Given the description of an element on the screen output the (x, y) to click on. 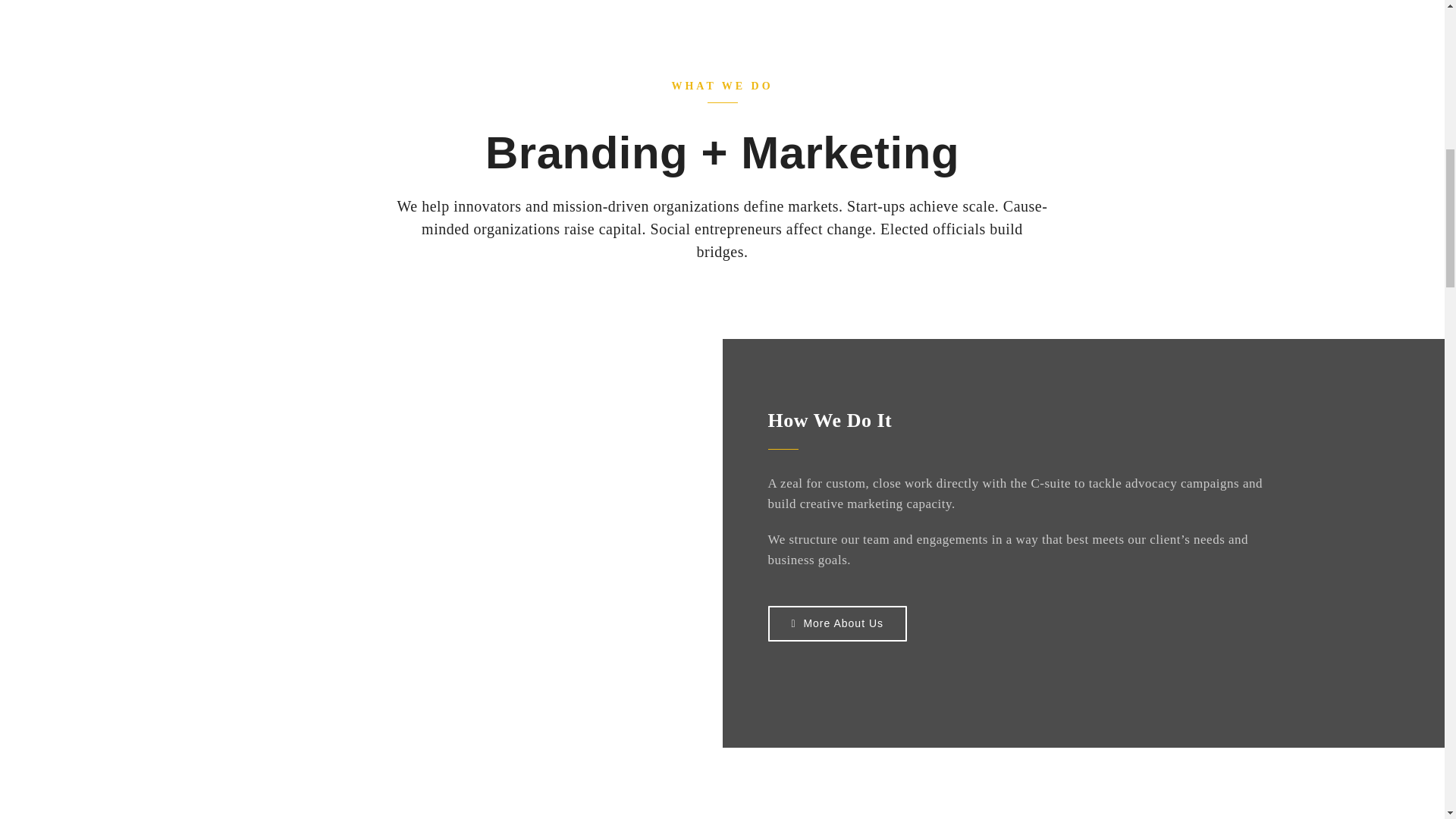
More About Us (837, 623)
